Given the description of an element on the screen output the (x, y) to click on. 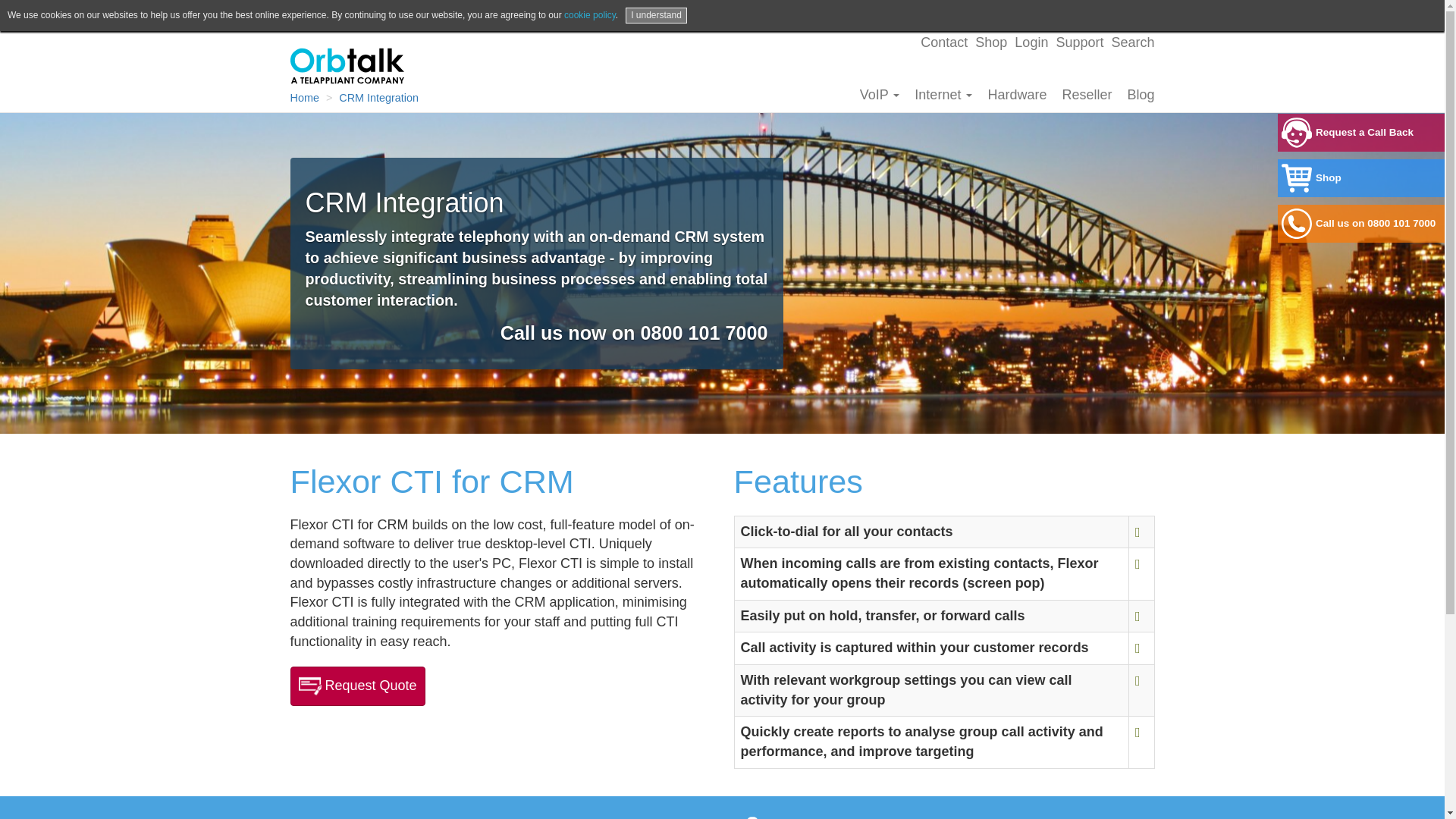
Internet (943, 94)
Shop (991, 42)
Support (1079, 42)
Search (1132, 42)
Contact (944, 42)
Blog (1140, 94)
VoIP (879, 94)
Reseller (1086, 94)
cookie policy (589, 14)
Call us now on 0800 101 7000 (634, 332)
Hardware (1016, 94)
I understand (656, 15)
Home (303, 97)
CRM Integration (379, 97)
Login (1031, 42)
